Given the description of an element on the screen output the (x, y) to click on. 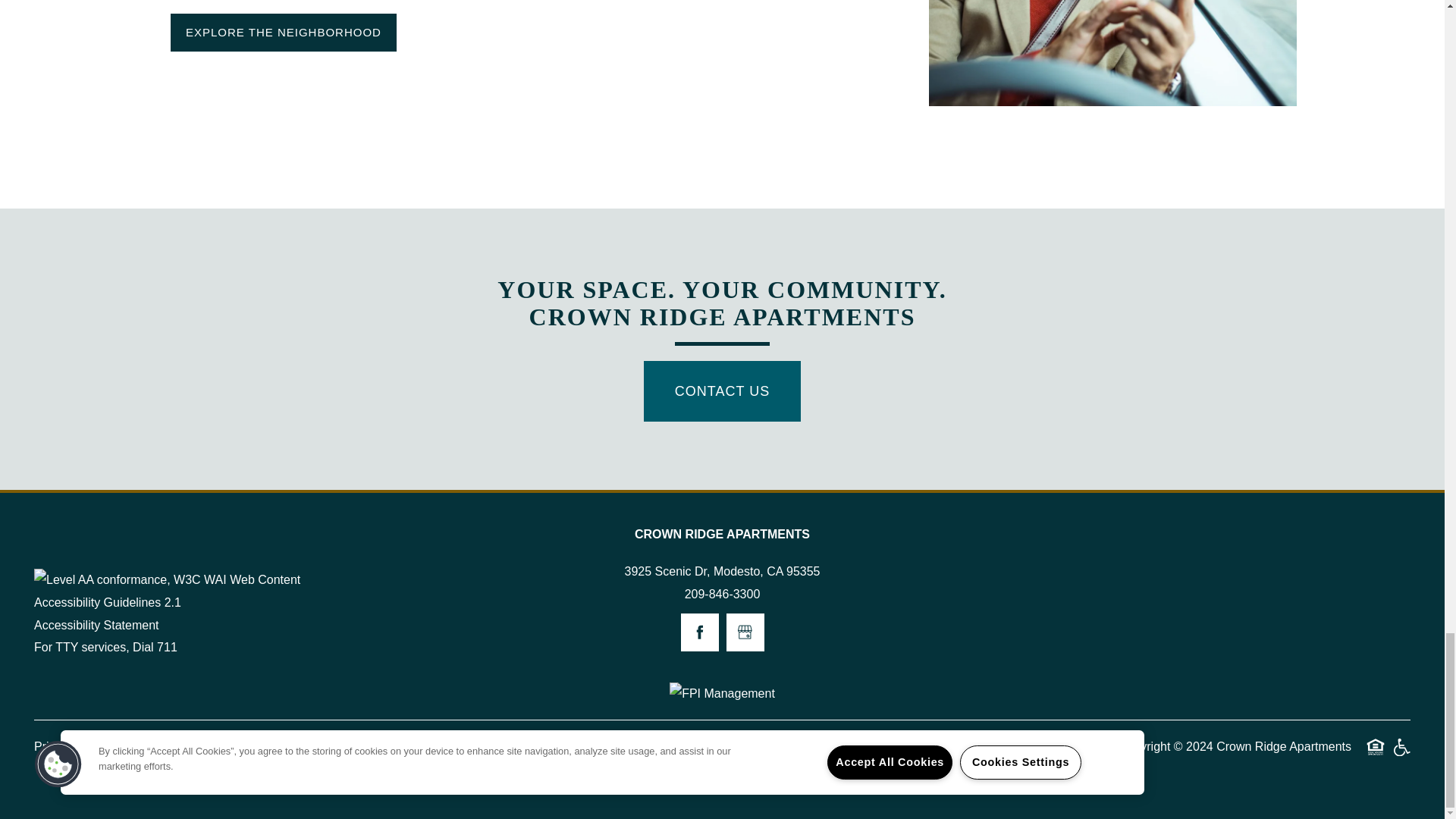
ADA Policy (159, 746)
Accessibility Statement (95, 625)
Equal Opportunity Housing (1375, 746)
209-846-3300 (722, 594)
EXPLORE THE NEIGHBORHOOD (283, 32)
Facebook (700, 632)
Handicap Friendly (1400, 746)
3925 Scenic Dr, Modesto, CA 95355 (722, 571)
CONTACT US (721, 391)
Google My Business (745, 632)
Privacy Policy (75, 746)
